Given the description of an element on the screen output the (x, y) to click on. 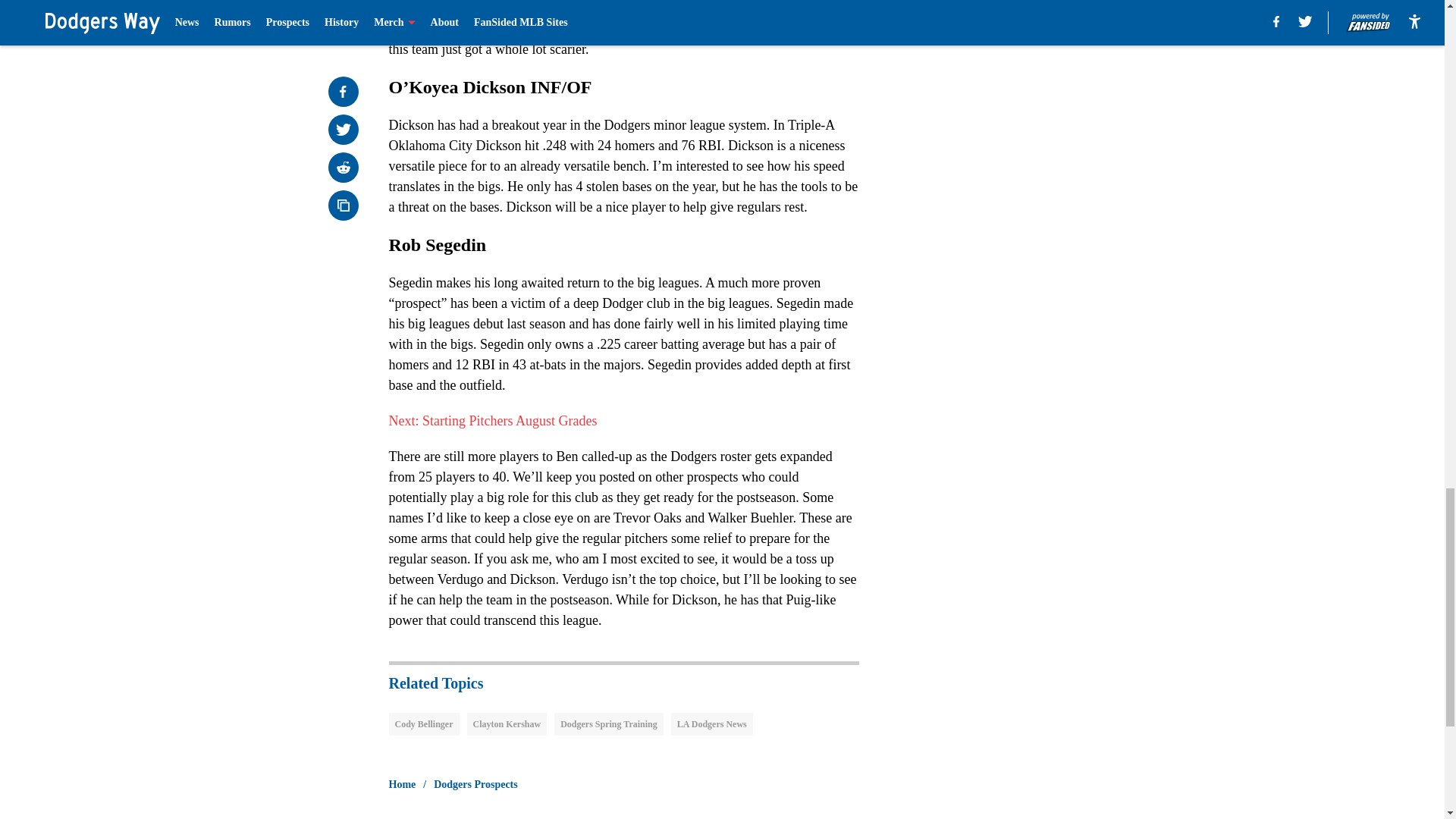
Clayton Kershaw (507, 723)
Dodgers Prospects (475, 784)
Cody Bellinger (423, 723)
Home (401, 784)
Next: Starting Pitchers August Grades (492, 420)
Dodgers Spring Training (608, 723)
LA Dodgers News (711, 723)
